Given the description of an element on the screen output the (x, y) to click on. 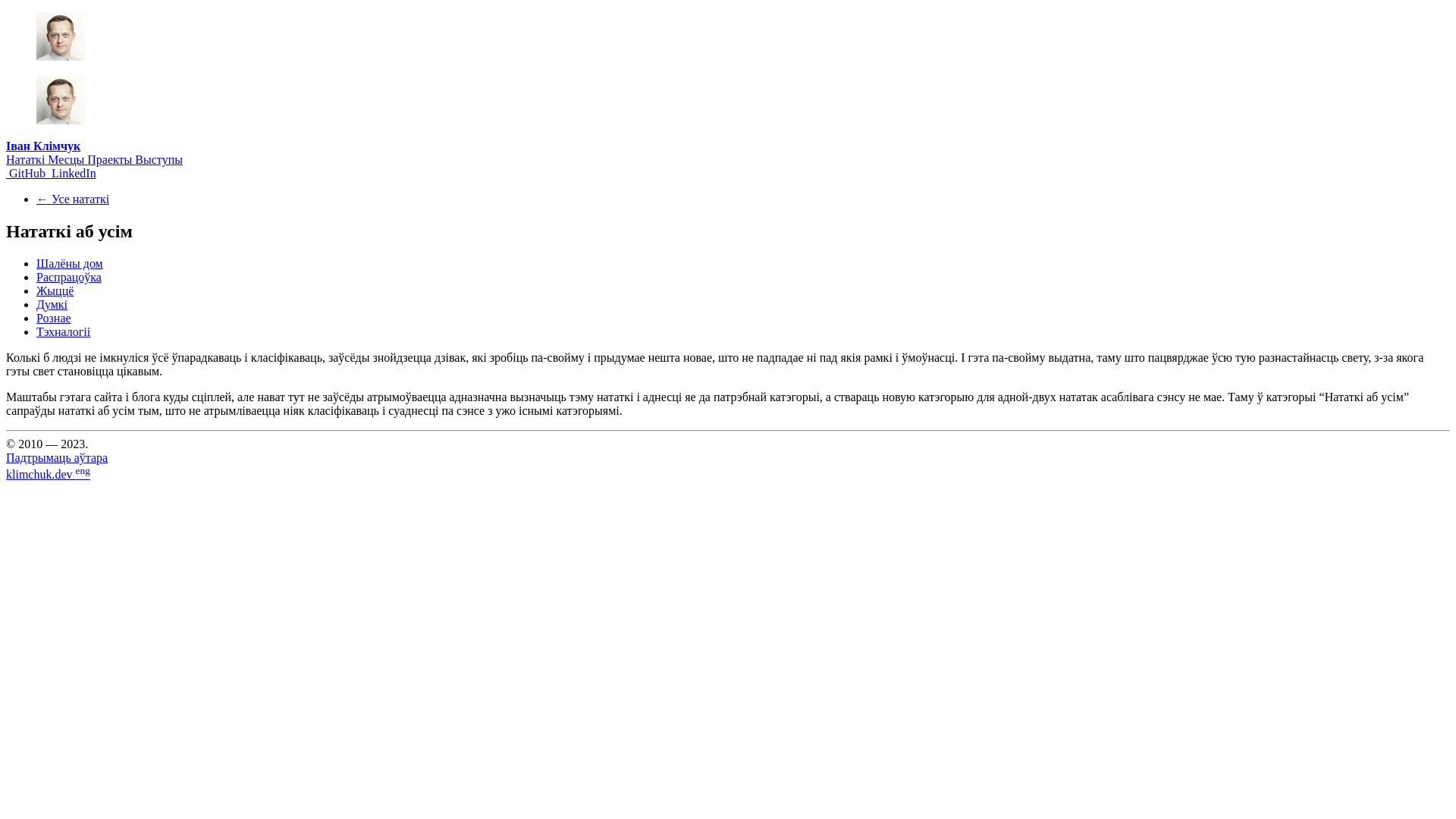
 GitHub Element type: text (27, 172)
 LinkedIn Element type: text (72, 172)
klimchuk.dev eng Element type: text (48, 473)
